Given the description of an element on the screen output the (x, y) to click on. 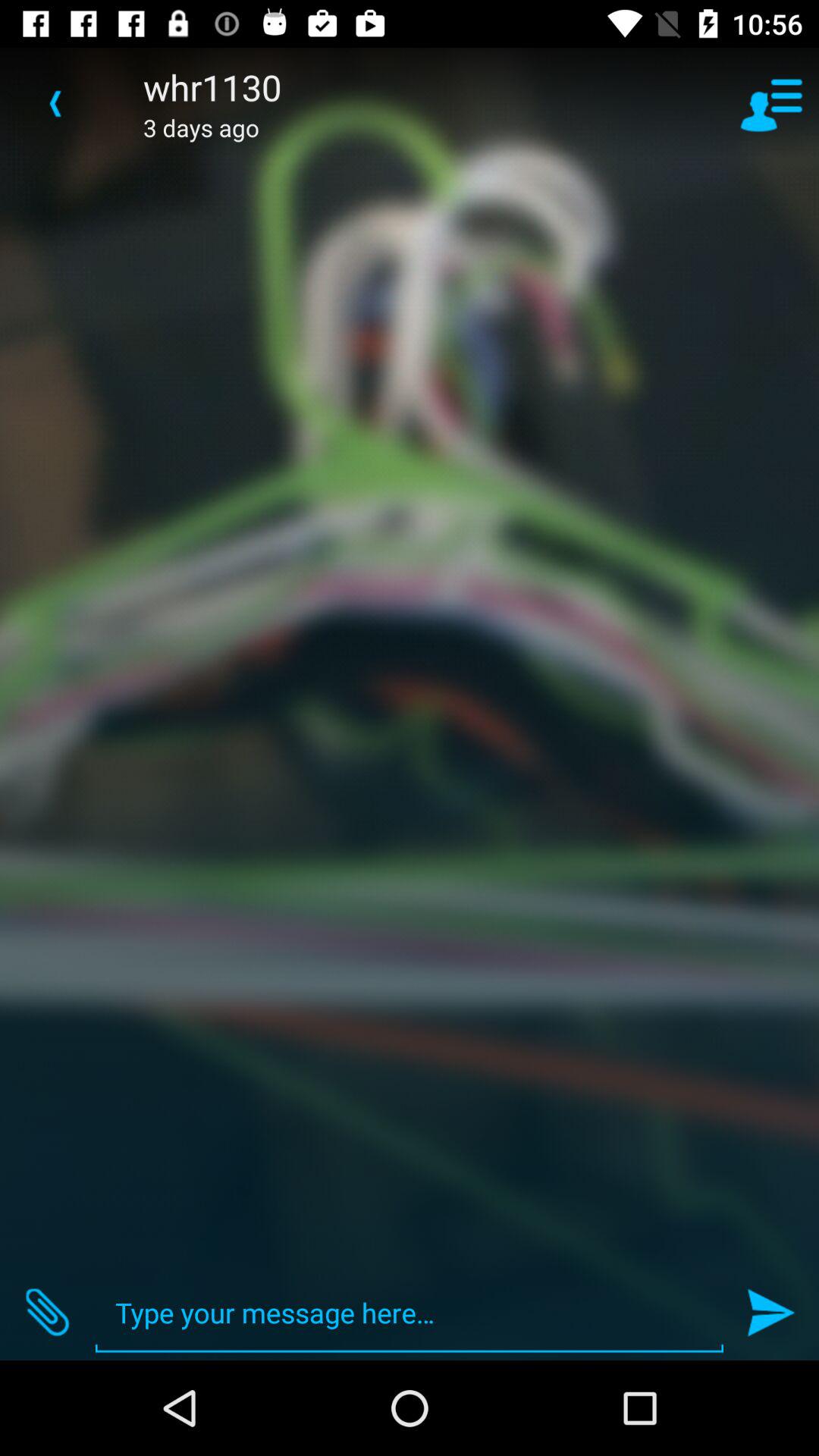
turn off item at the bottom left corner (47, 1312)
